Given the description of an element on the screen output the (x, y) to click on. 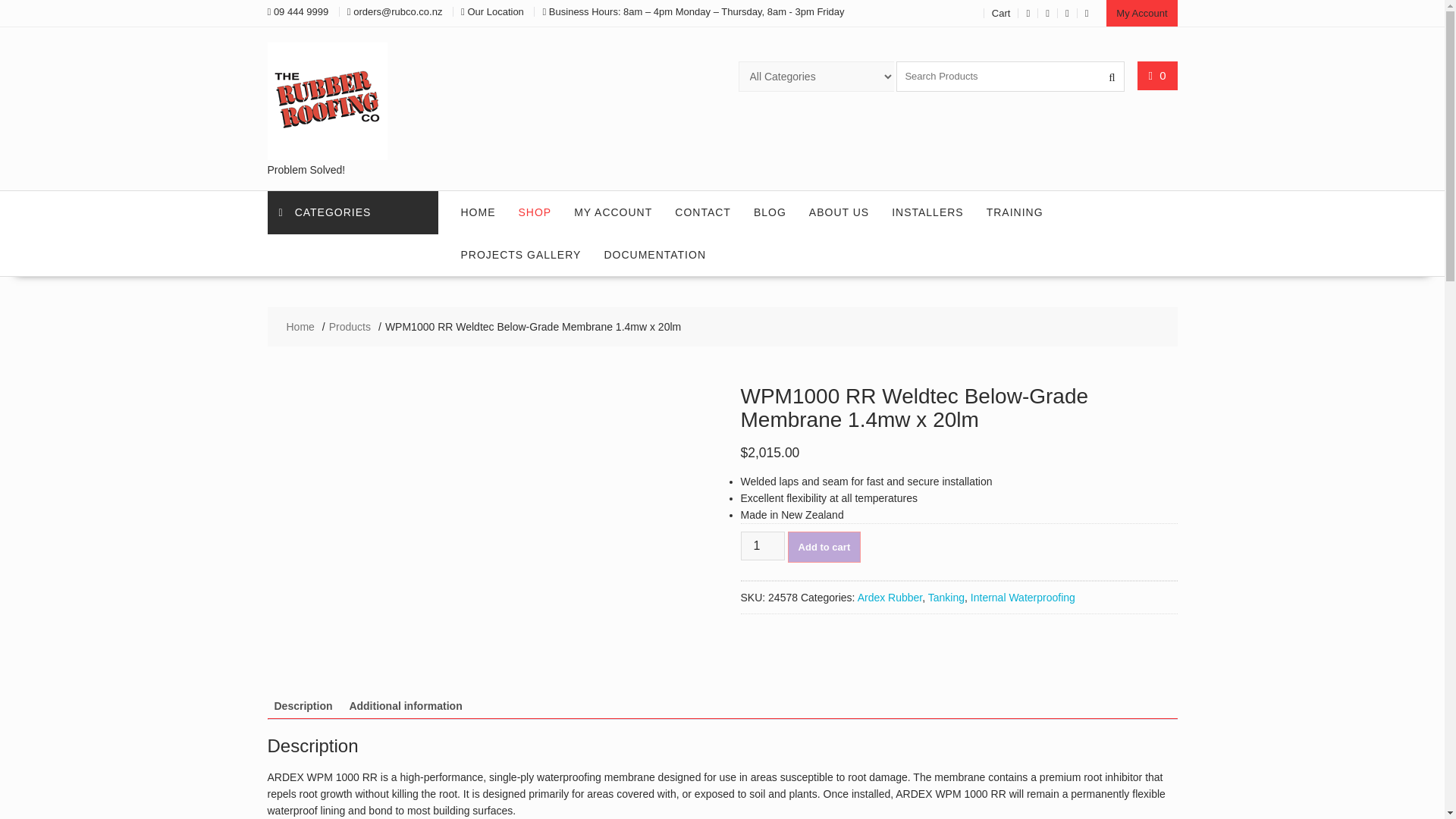
MY ACCOUNT (612, 211)
0 (1157, 74)
1 (761, 545)
My Account (1141, 13)
Our Location (494, 11)
Cart (1000, 12)
SHOP (534, 211)
HOME (477, 211)
CATEGORIES (352, 212)
